Given the description of an element on the screen output the (x, y) to click on. 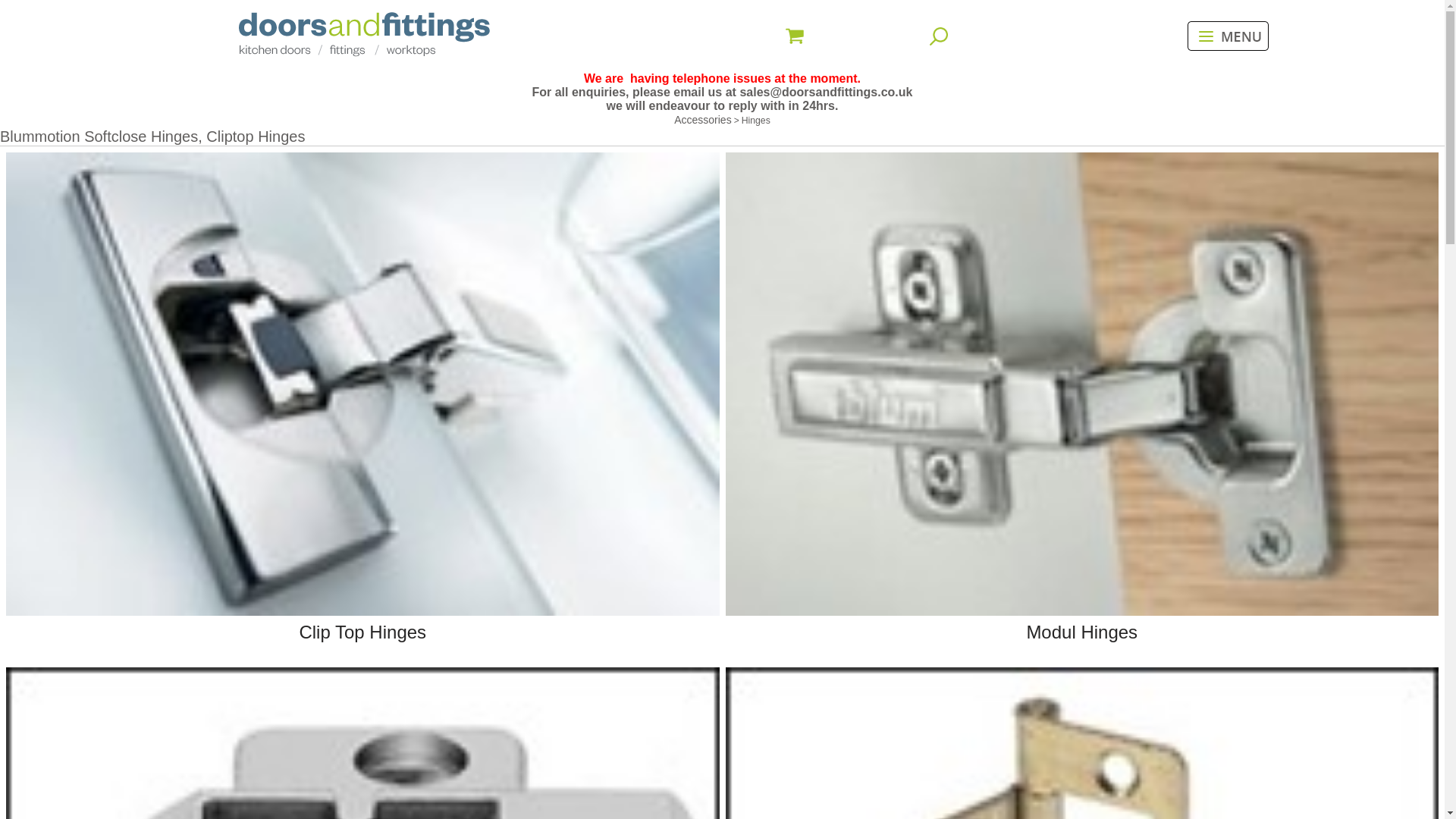
Click to view departments (1228, 35)
Click to search (938, 36)
